Given the description of an element on the screen output the (x, y) to click on. 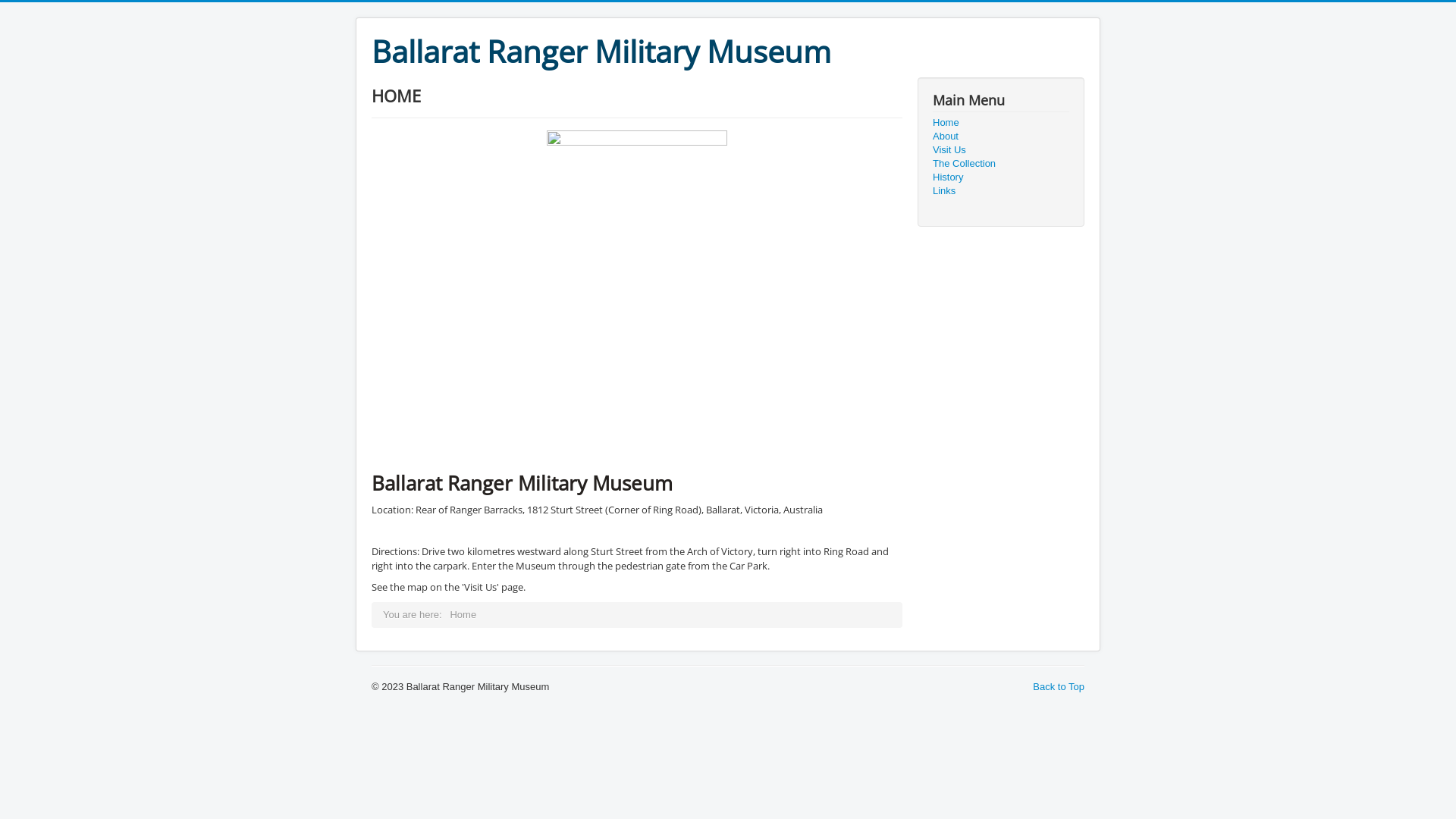
Links Element type: text (1000, 190)
Visit Us Element type: text (1000, 149)
History Element type: text (1000, 177)
About Element type: text (1000, 136)
Home Element type: text (1000, 122)
Back to Top Element type: text (1058, 686)
Ballarat Ranger Military Museum Element type: text (601, 51)
The Collection Element type: text (1000, 163)
